Given the description of an element on the screen output the (x, y) to click on. 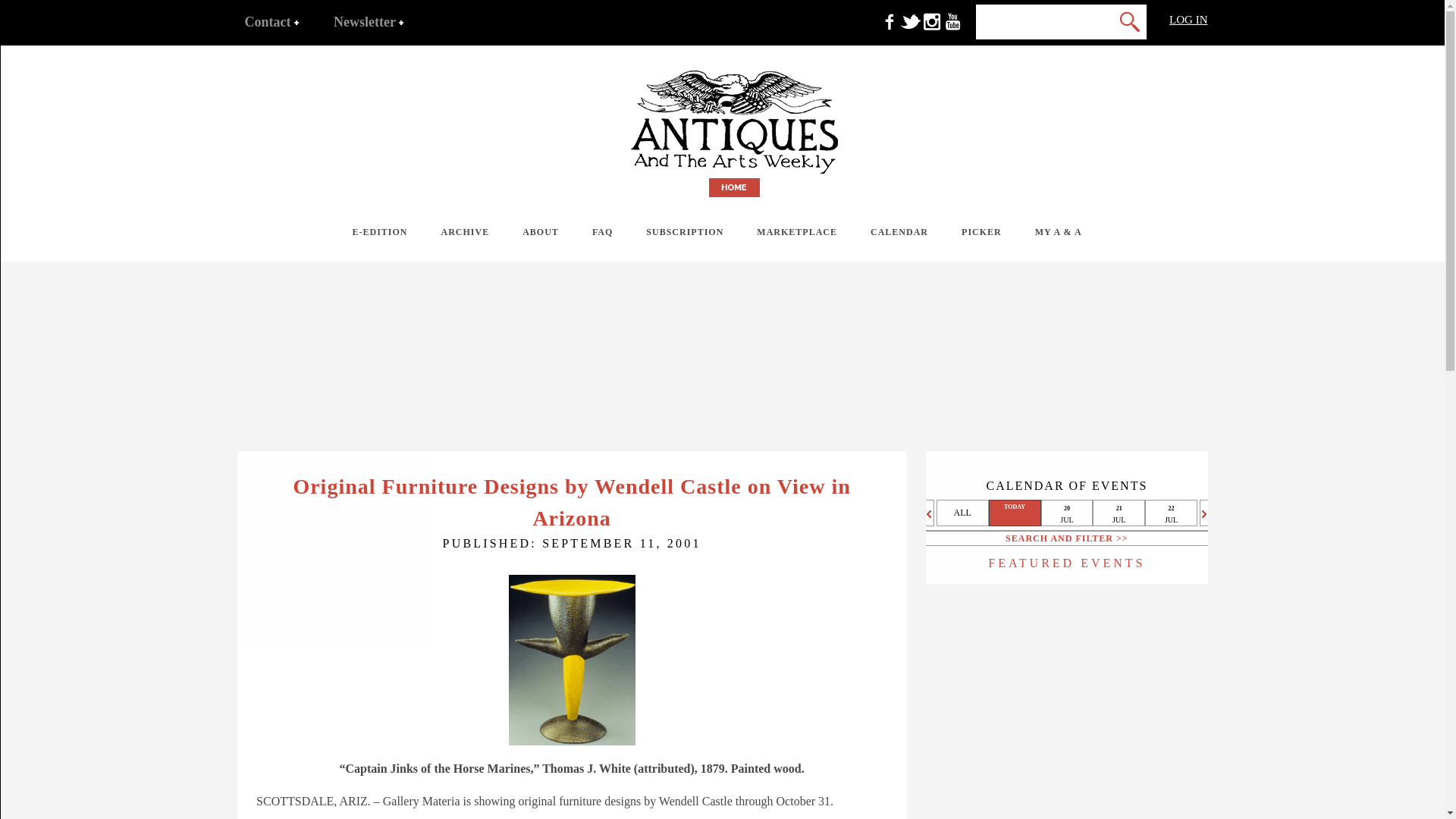
Twitter (910, 28)
Youtube (952, 28)
Instagram (931, 28)
Facebook (889, 28)
Search... (1021, 21)
